Given the description of an element on the screen output the (x, y) to click on. 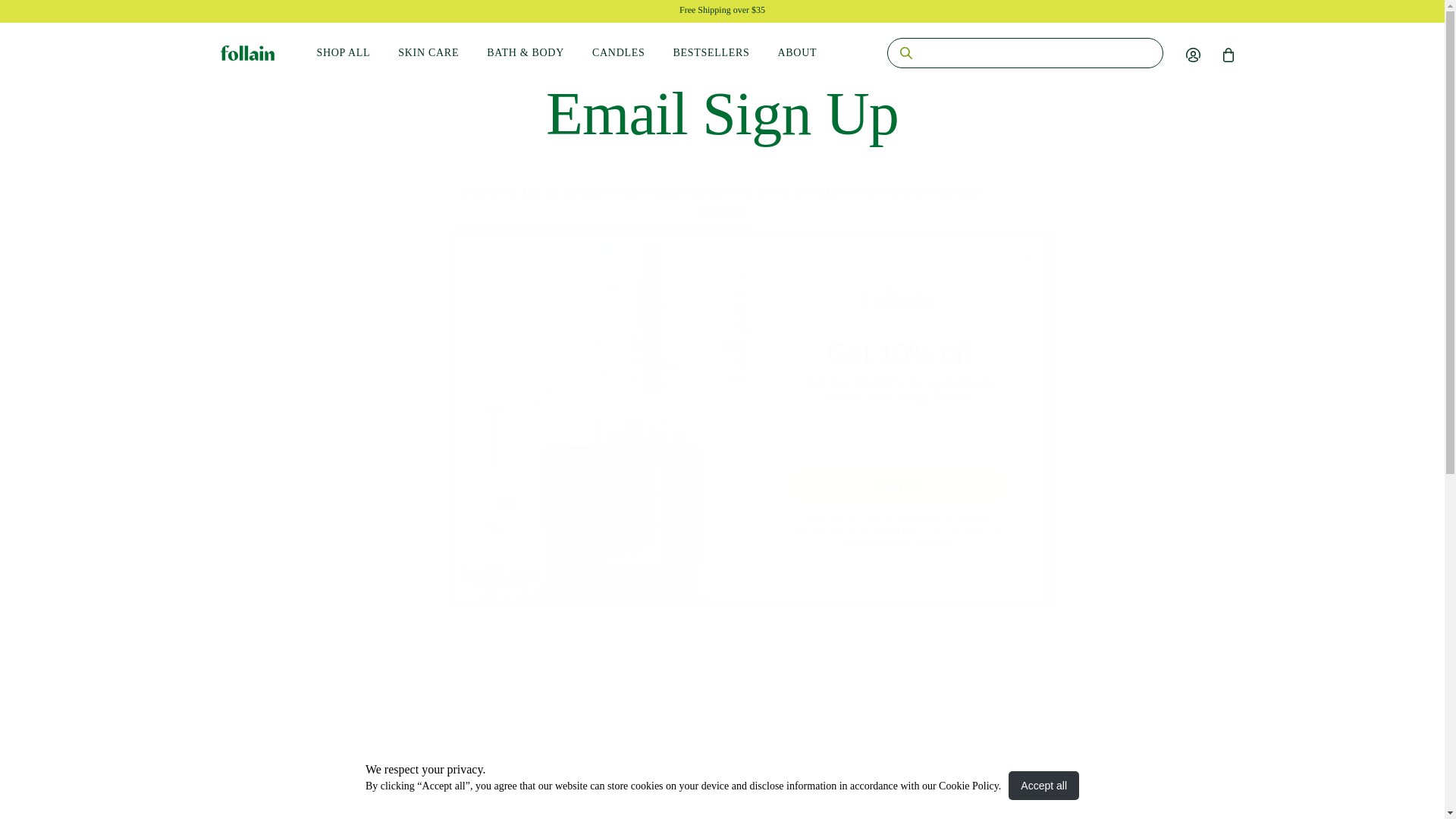
Accept all (1043, 784)
BESTSELLERS (724, 53)
SHOP ALL (357, 53)
CANDLES (632, 53)
ABOUT (810, 53)
SKIN CARE (441, 53)
SKIP TO CONTENT (45, 14)
Email Sign Up (721, 113)
